Given the description of an element on the screen output the (x, y) to click on. 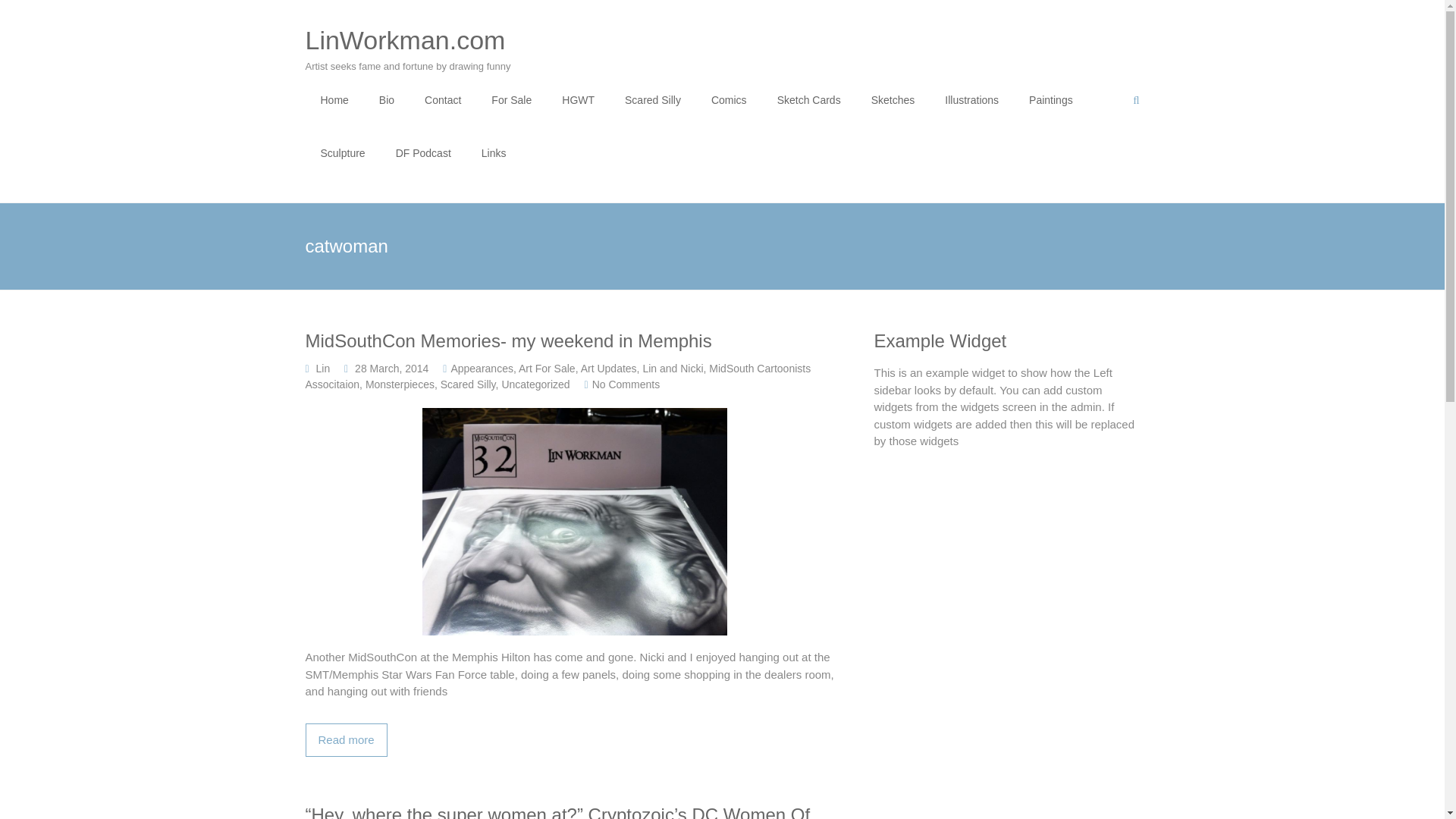
LinWorkman.com (404, 39)
Art Updates (608, 368)
Art For Sale (546, 368)
Illustrations (971, 99)
MidSouthCon Memories- my weekend in Memphis (345, 740)
Scared Silly (468, 384)
Appearances (481, 368)
8:41 PM (391, 368)
Lin and Nicki (672, 368)
Monsterpieces (399, 384)
